Given the description of an element on the screen output the (x, y) to click on. 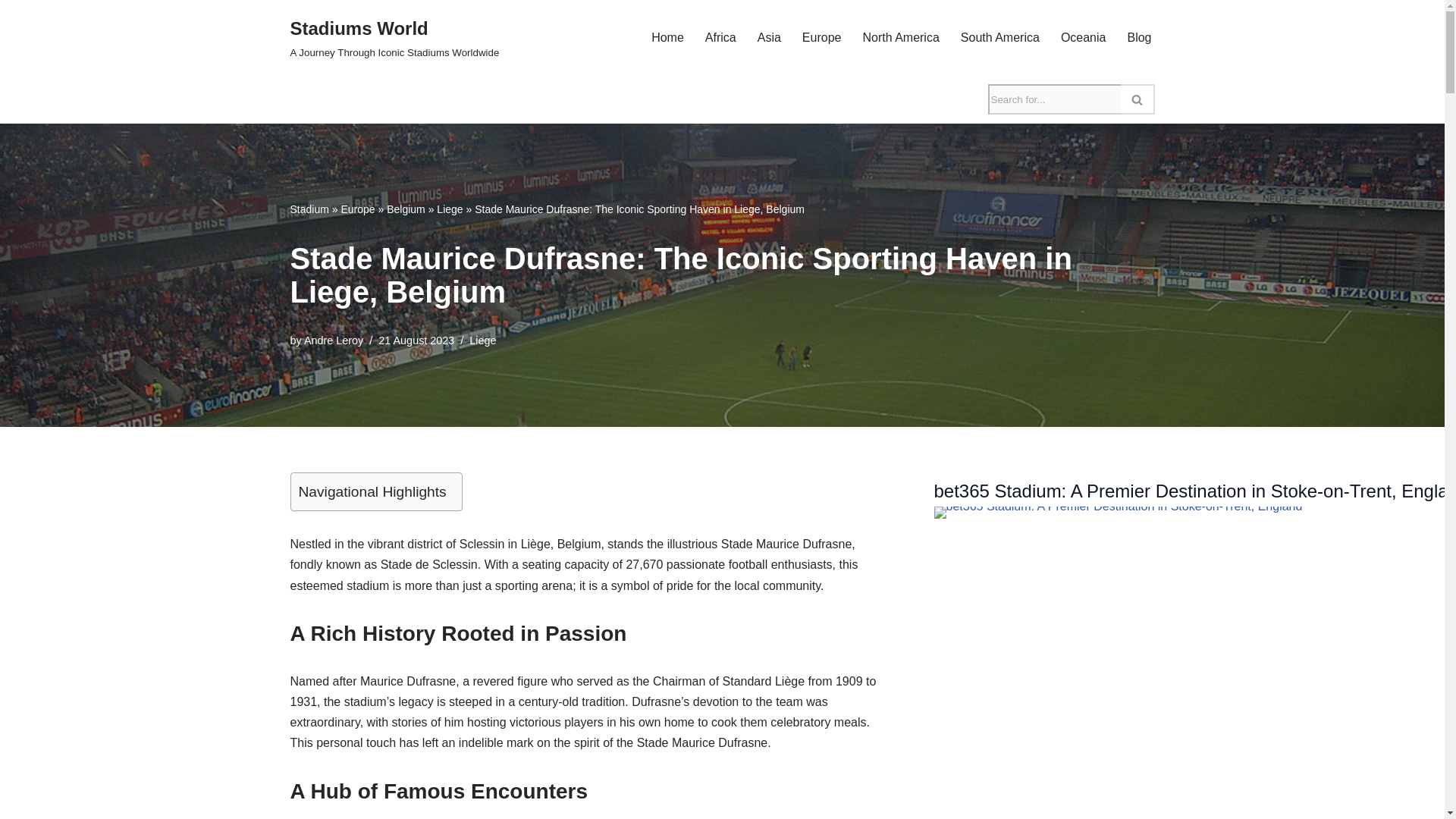
Europe (821, 37)
Europe (357, 209)
Stadium (309, 209)
Liege (394, 37)
Skip to content (449, 209)
Liege (11, 31)
Blog (482, 340)
South America (1138, 37)
Andre Leroy (999, 37)
Asia (333, 340)
Home (768, 37)
North America (667, 37)
Oceania (900, 37)
Belgium (1083, 37)
